Given the description of an element on the screen output the (x, y) to click on. 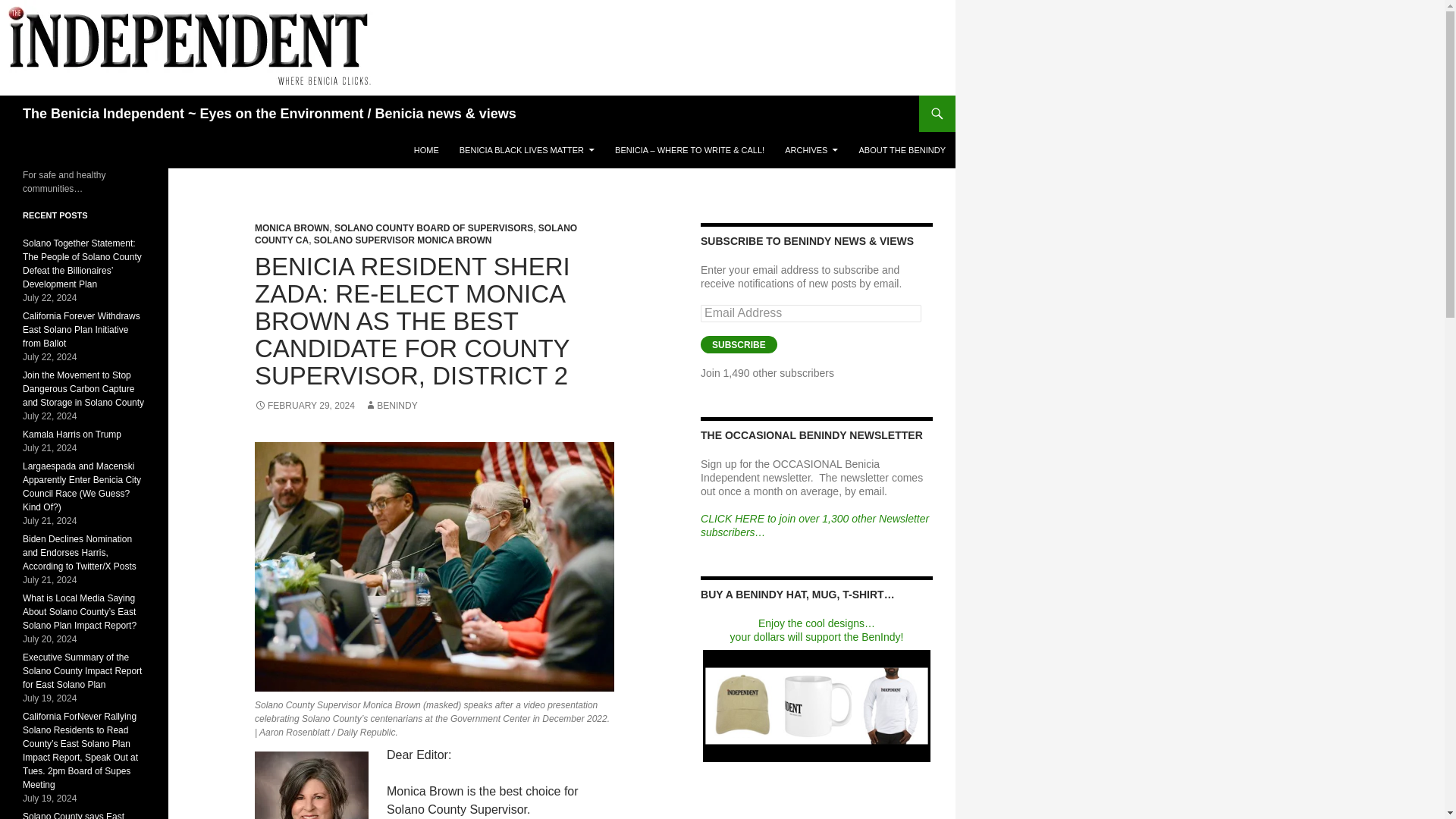
BENICIA BLACK LIVES MATTER (526, 149)
ARCHIVES (811, 149)
HOME (426, 149)
